Given the description of an element on the screen output the (x, y) to click on. 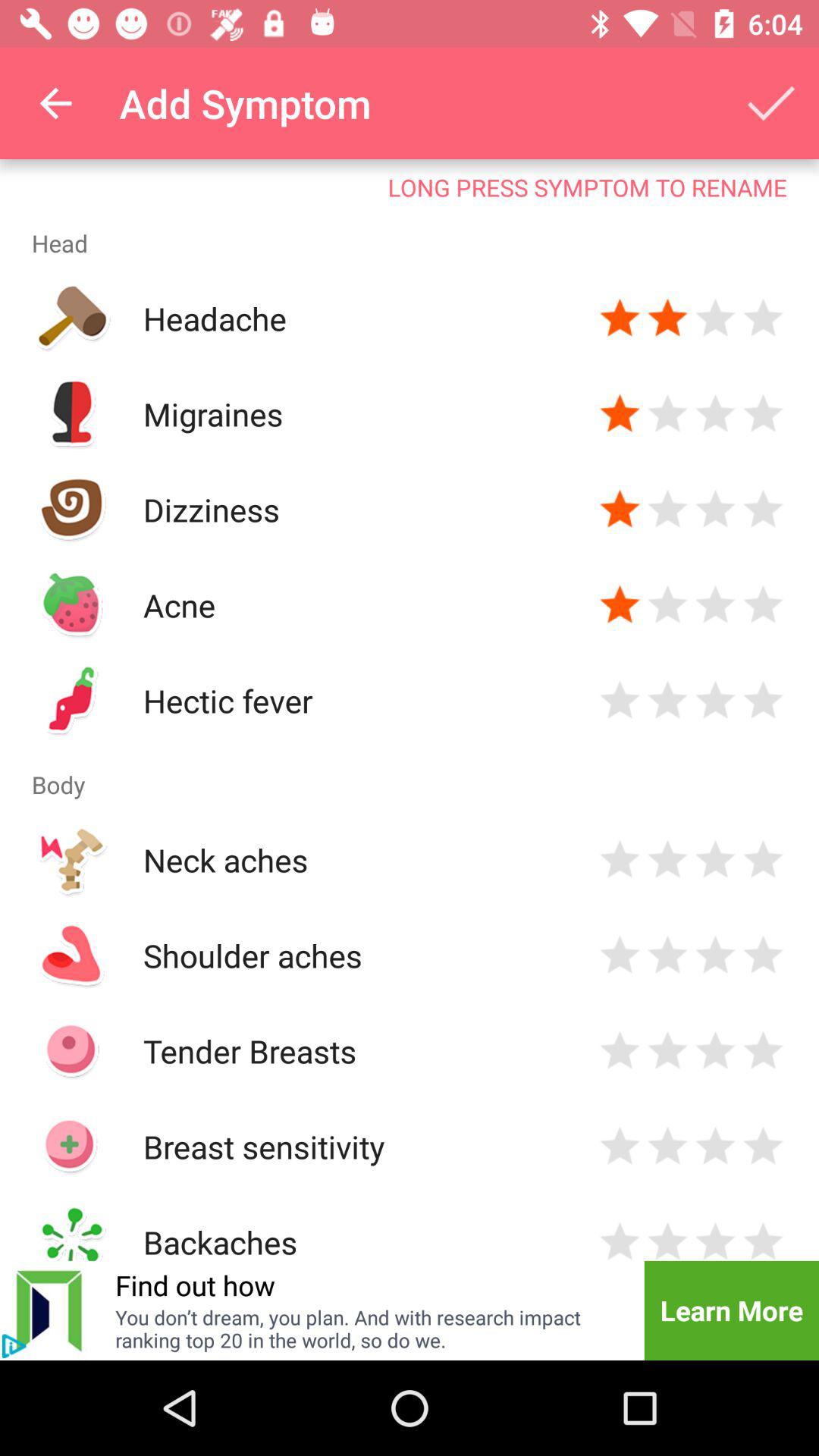
add rating (667, 605)
